Given the description of an element on the screen output the (x, y) to click on. 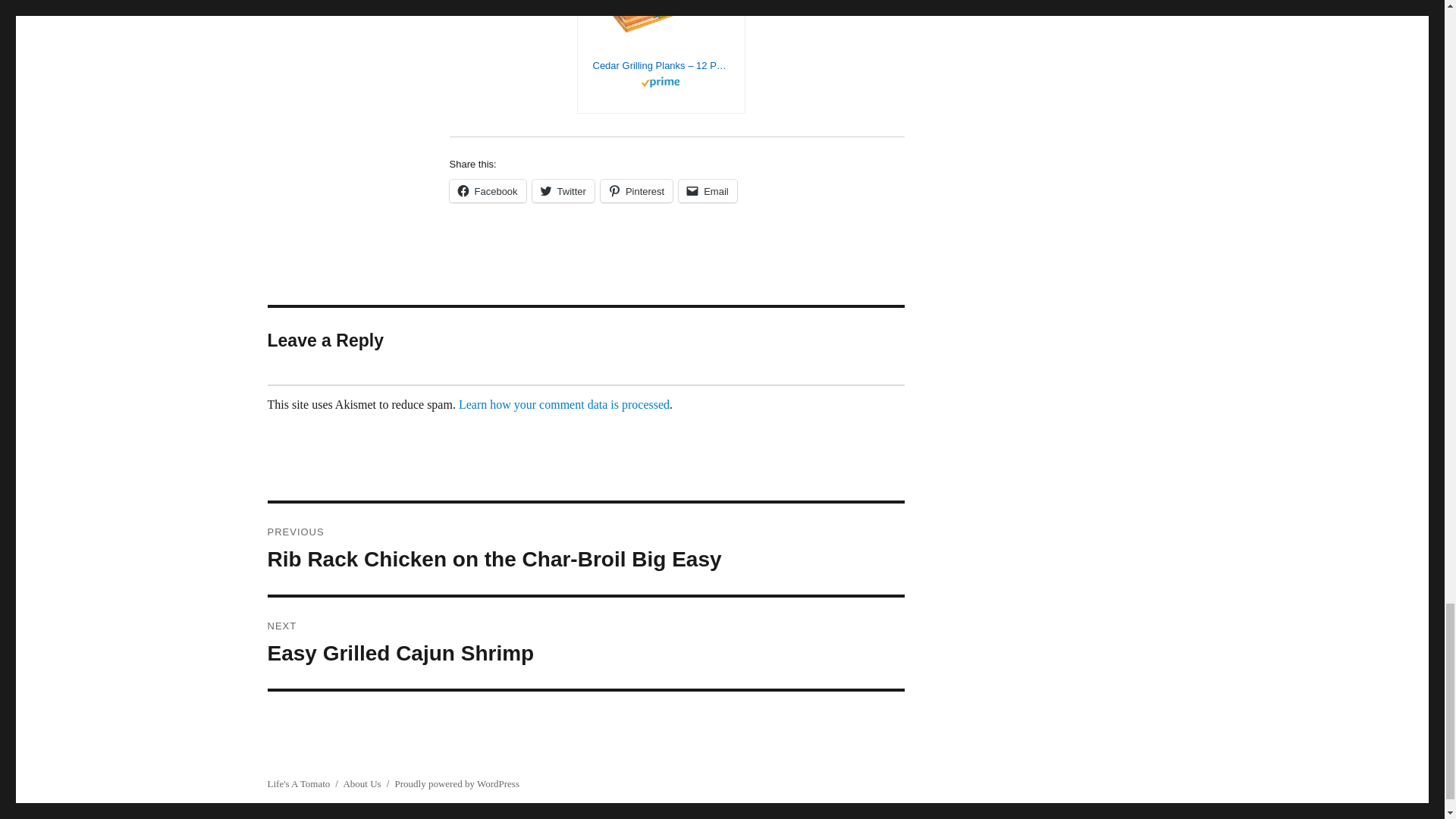
Click to share on Facebook (486, 190)
Click to share on Pinterest (635, 190)
Twitter (563, 190)
Click to share on Twitter (563, 190)
Facebook (486, 190)
Pinterest (635, 190)
Cedar Grilling Planks - 12 Pack (660, 65)
Click to email a link to a friend (707, 190)
